Given the description of an element on the screen output the (x, y) to click on. 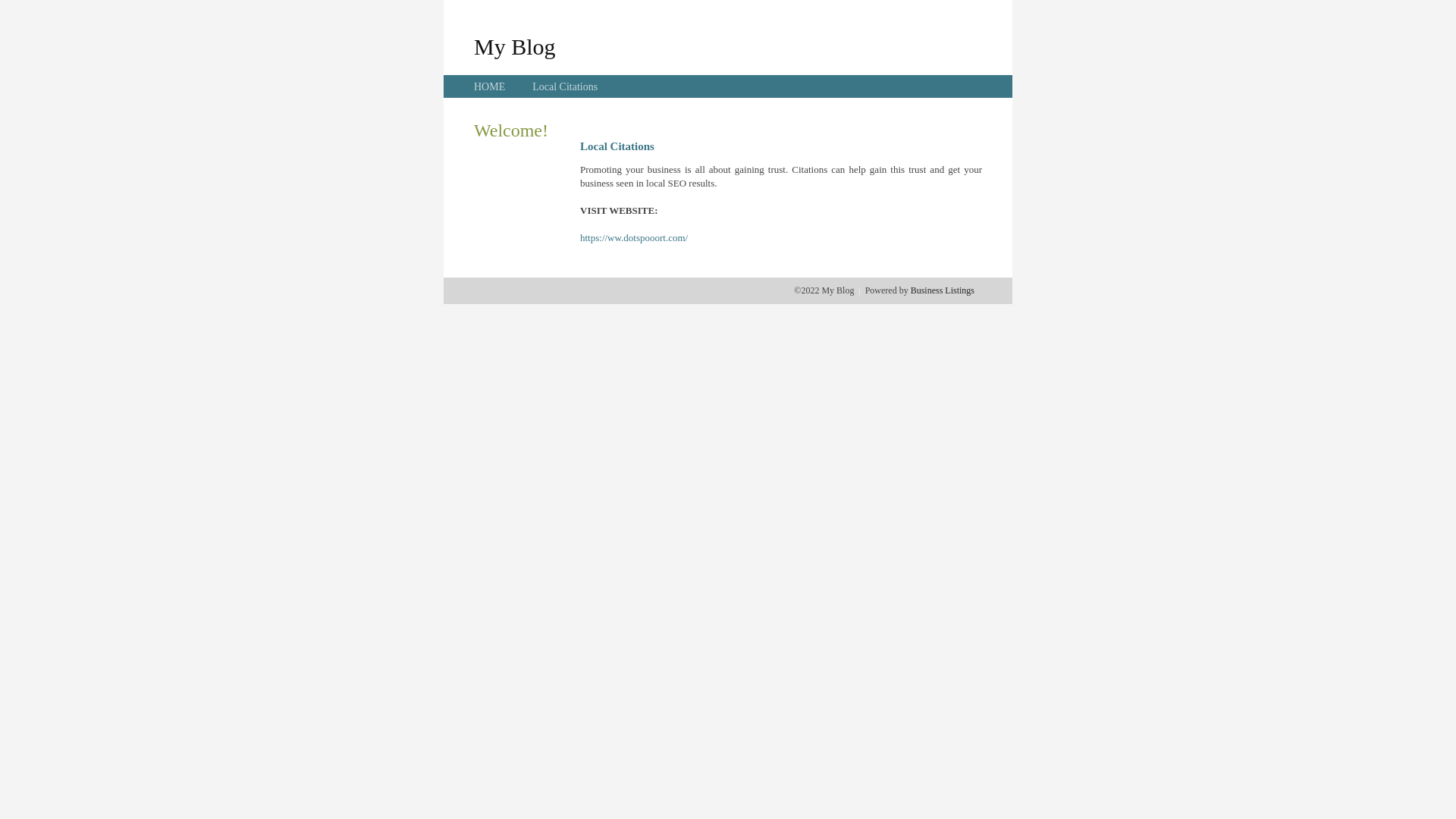
https://ww.dotspooort.com/ Element type: text (633, 237)
Business Listings Element type: text (942, 290)
Local Citations Element type: text (564, 86)
HOME Element type: text (489, 86)
My Blog Element type: text (514, 46)
